Given the description of an element on the screen output the (x, y) to click on. 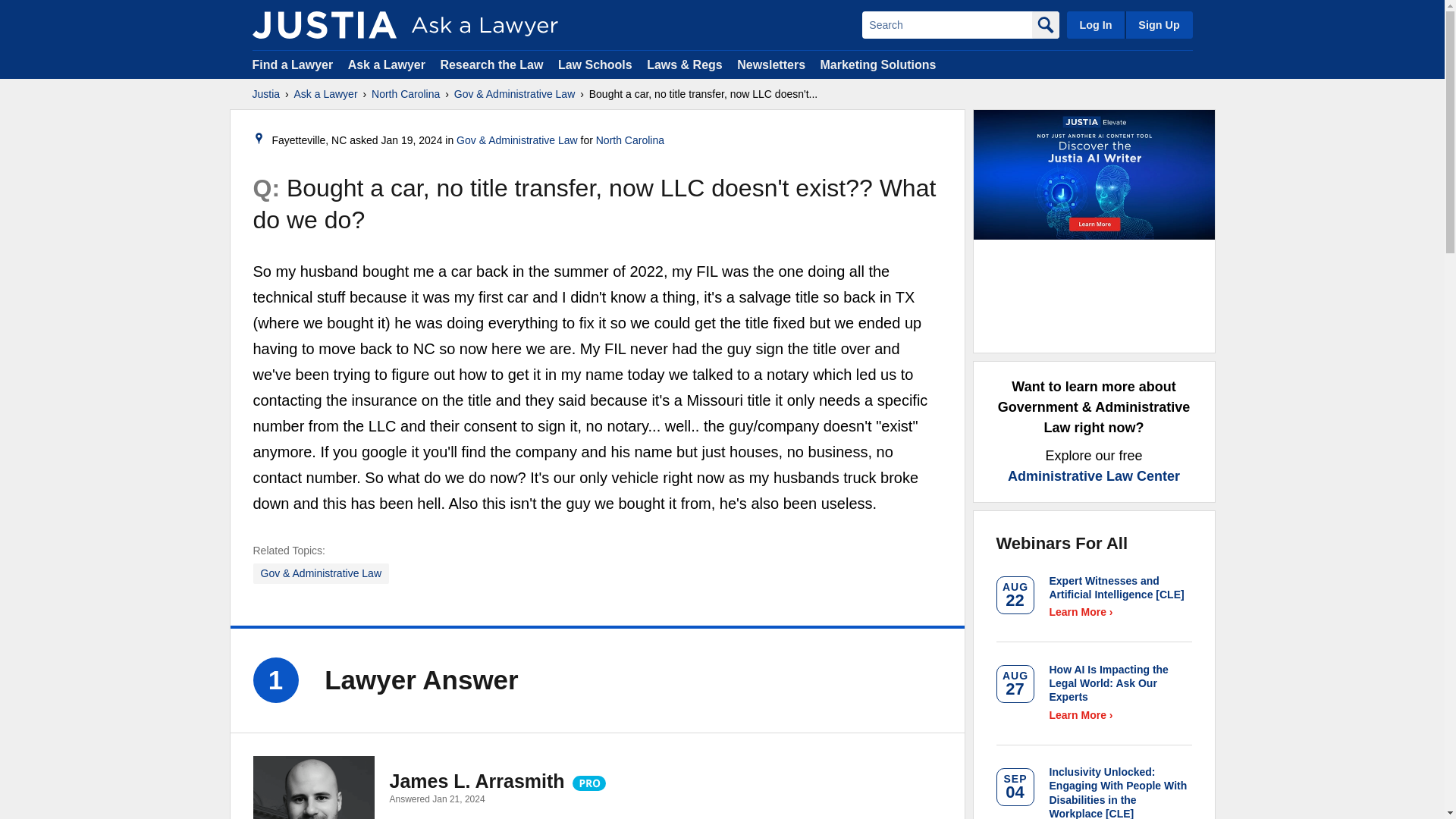
Search (945, 24)
Ask a Lawyer (326, 93)
Log In (1094, 24)
James L. Arrasmith (313, 787)
Justia (265, 93)
North Carolina (629, 140)
Law Schools (594, 64)
2024-01-19T19:13:21-08:00 (411, 140)
Newsletters (770, 64)
North Carolina (405, 93)
